Given the description of an element on the screen output the (x, y) to click on. 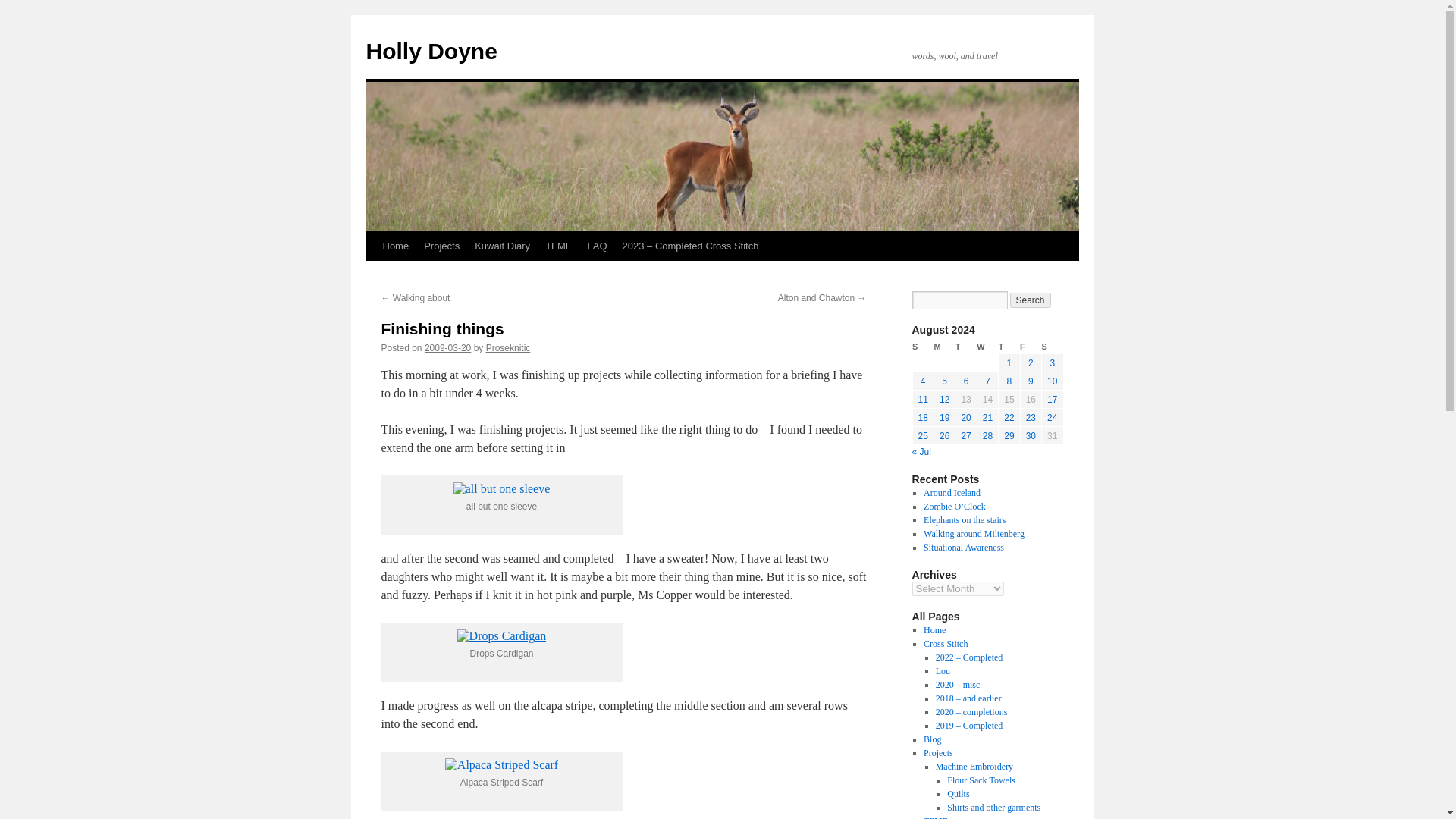
Sunday (922, 346)
Home (395, 246)
Tuesday (965, 346)
Search (1030, 299)
View all posts by Proseknitic (508, 347)
FAQ (596, 246)
Search (1030, 299)
Monday (944, 346)
11 (923, 398)
10 (1051, 380)
